Given the description of an element on the screen output the (x, y) to click on. 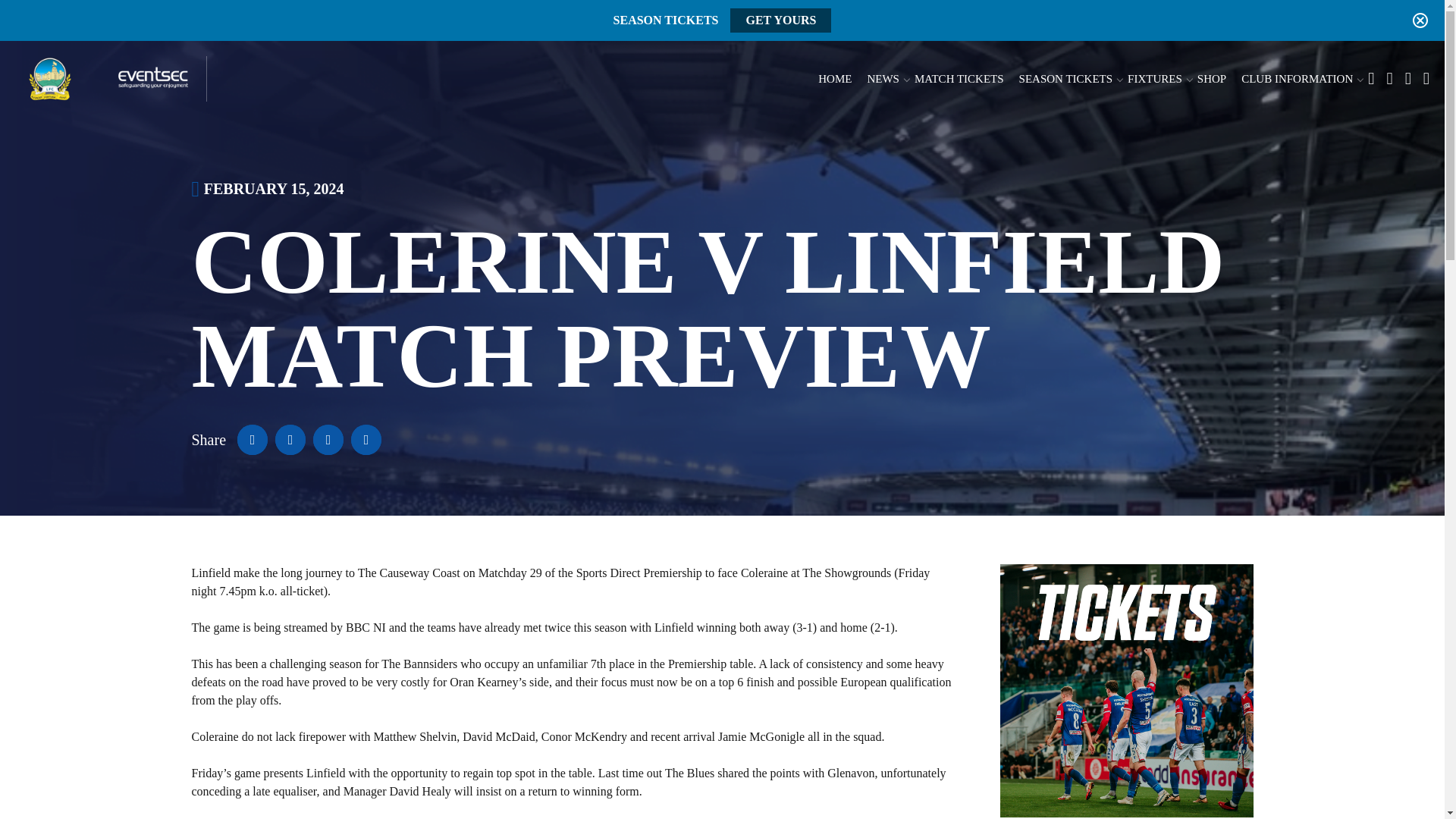
Share on WhatsApp (365, 440)
Share on Twitter (290, 440)
MATCH TICKETS (959, 78)
Share on LinkedIn (328, 440)
Share on Facebook (252, 440)
GET YOURS (780, 20)
CLUB INFORMATION (1296, 78)
SEASON TICKETS (1066, 78)
